Given the description of an element on the screen output the (x, y) to click on. 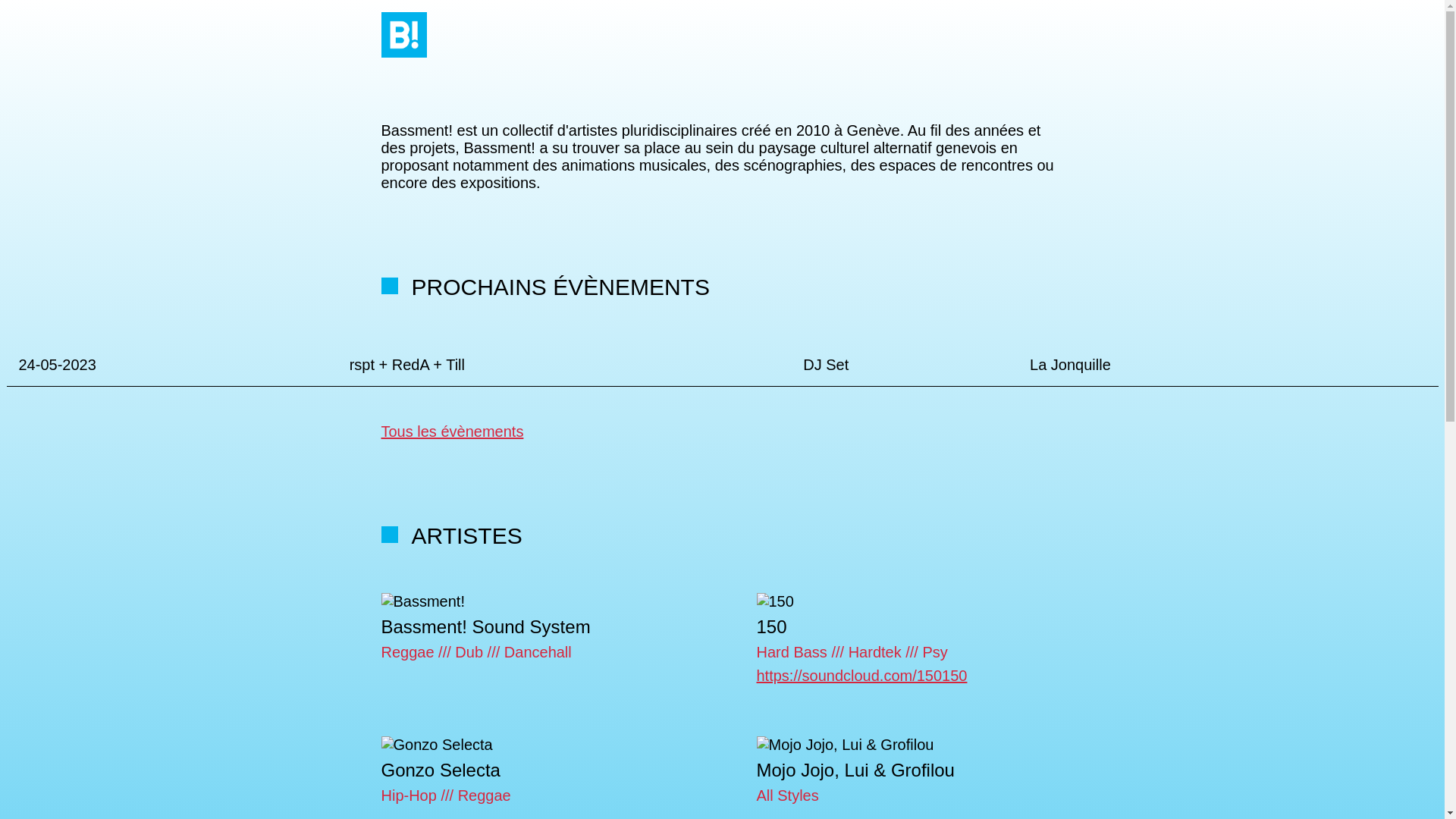
https://soundcloud.com/150150 Element type: text (861, 675)
